Given the description of an element on the screen output the (x, y) to click on. 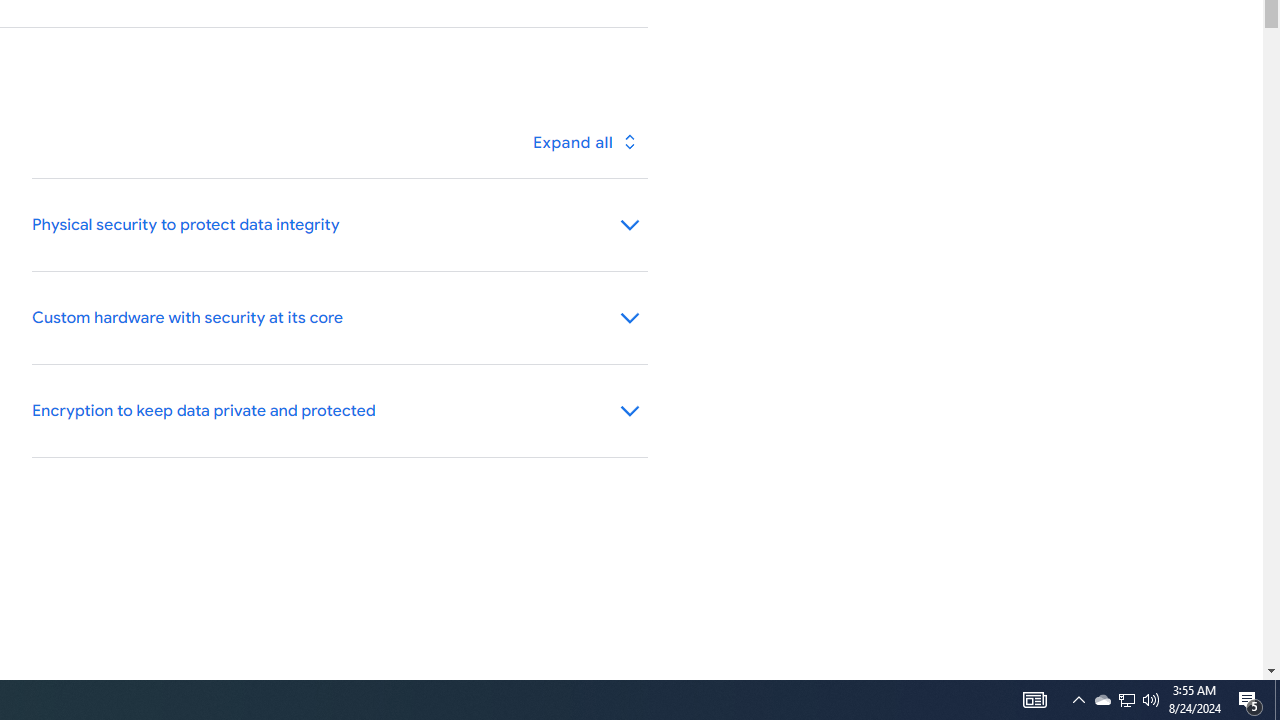
Custom hardware with security at its core (339, 318)
Press to toggle all panels (583, 142)
Encryption to keep data private and protected (339, 411)
Physical security to protect data integrity (339, 224)
